Given the description of an element on the screen output the (x, y) to click on. 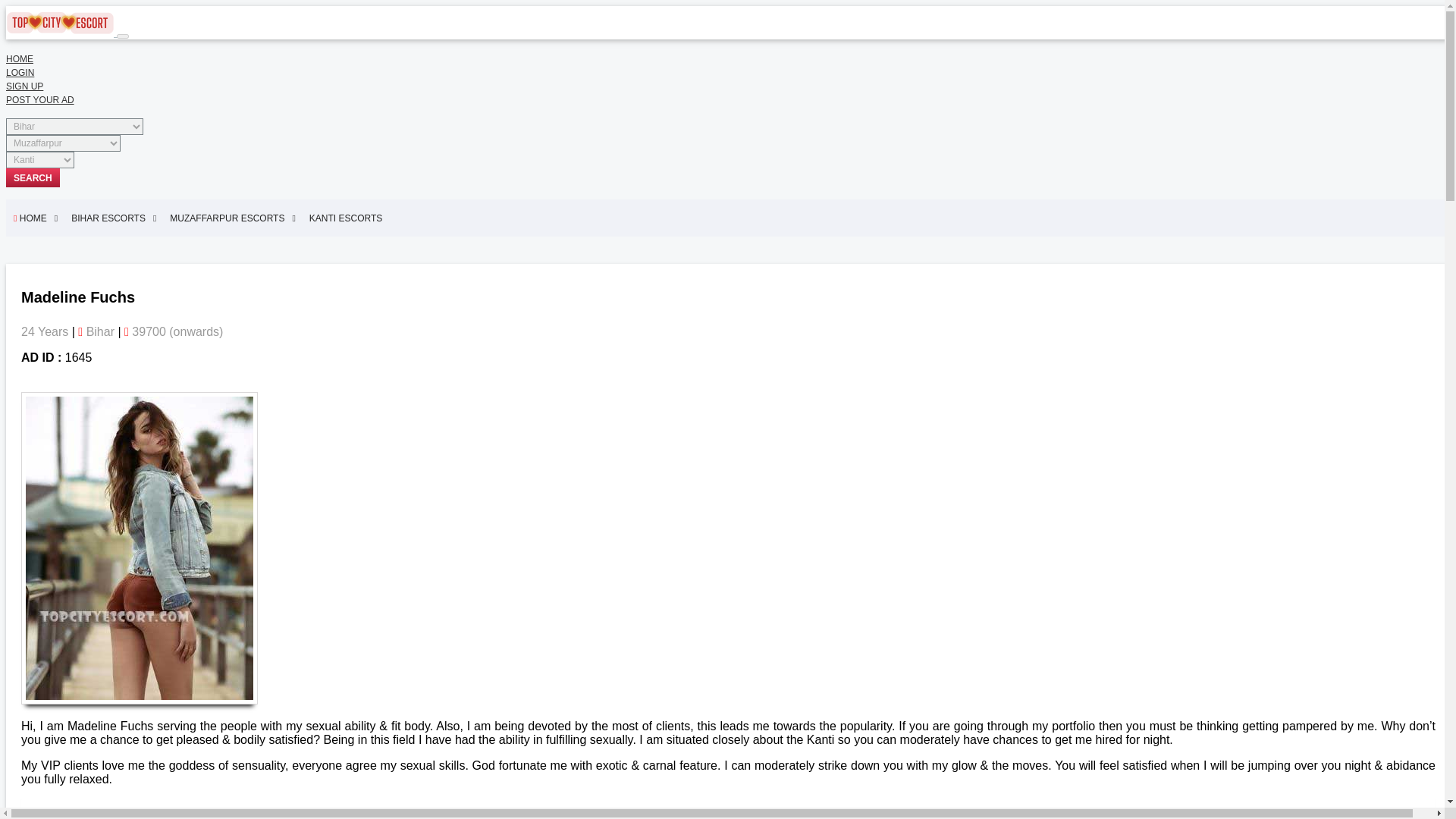
Escorts in Pune (795, 817)
BIHAR ESCORTS (113, 217)
LOGIN (19, 72)
Search (32, 177)
Escorts in Jammu and Kashmir (282, 817)
Escorts in Mumbai (606, 817)
Escorts in Goa (164, 817)
Escorts in Delhi (78, 817)
Escorts in Patna (402, 817)
Search (32, 177)
MUZAFFARPUR ESCORTS (232, 217)
POST YOUR AD (39, 100)
KANTI ESCORTS (349, 217)
Escorts in Nashik (704, 817)
Escorts in Bangalore (502, 817)
